Given the description of an element on the screen output the (x, y) to click on. 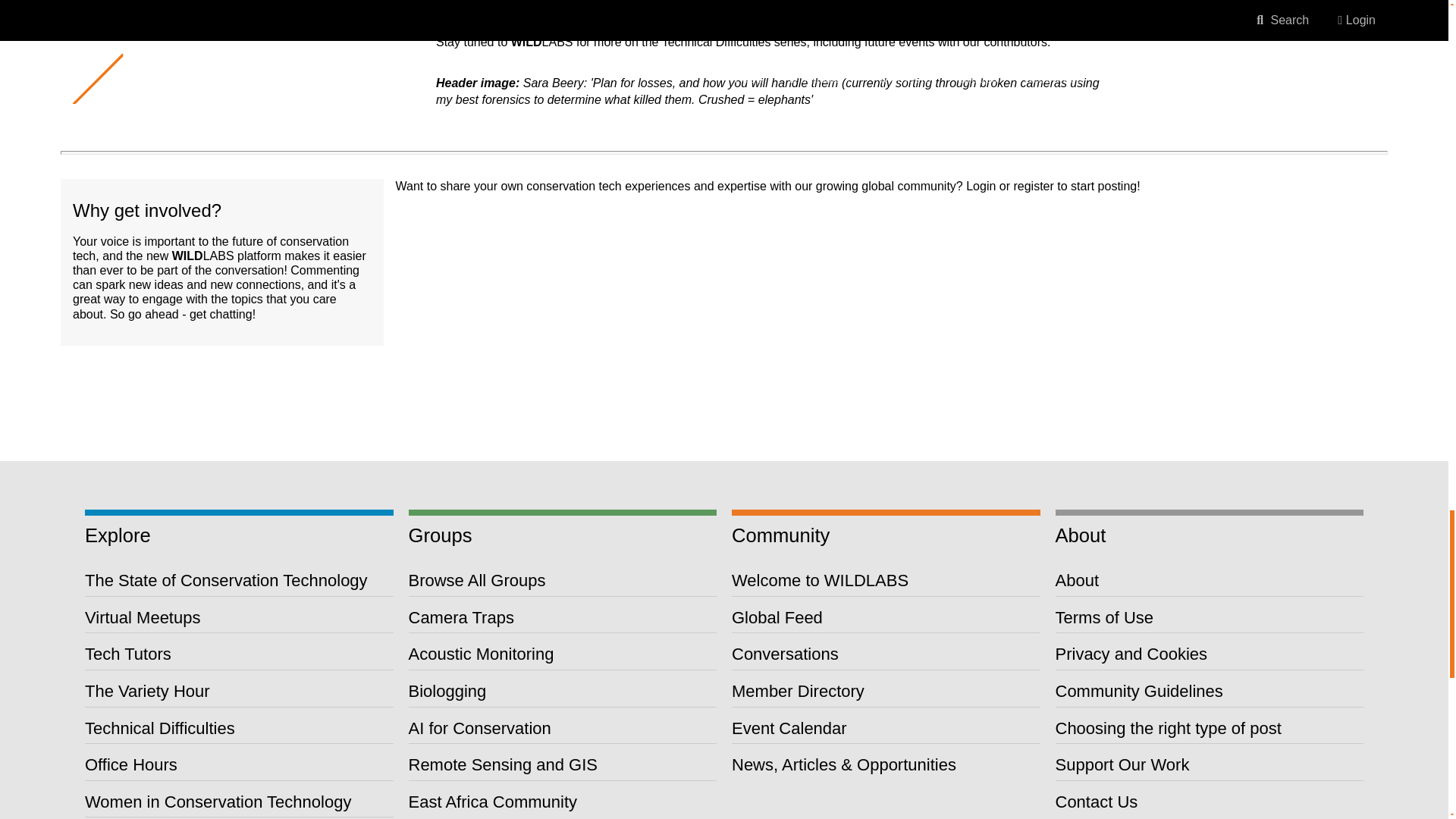
Technical Difficulties (159, 728)
Tech Tutors (127, 653)
The Variety Hour (146, 691)
Virtual Meetups (142, 617)
Women in Conservation Technology (217, 801)
Office Hours (130, 764)
The State of Conservation Technology (226, 579)
Browse All Groups (475, 579)
Camera Traps (460, 617)
